Given the description of an element on the screen output the (x, y) to click on. 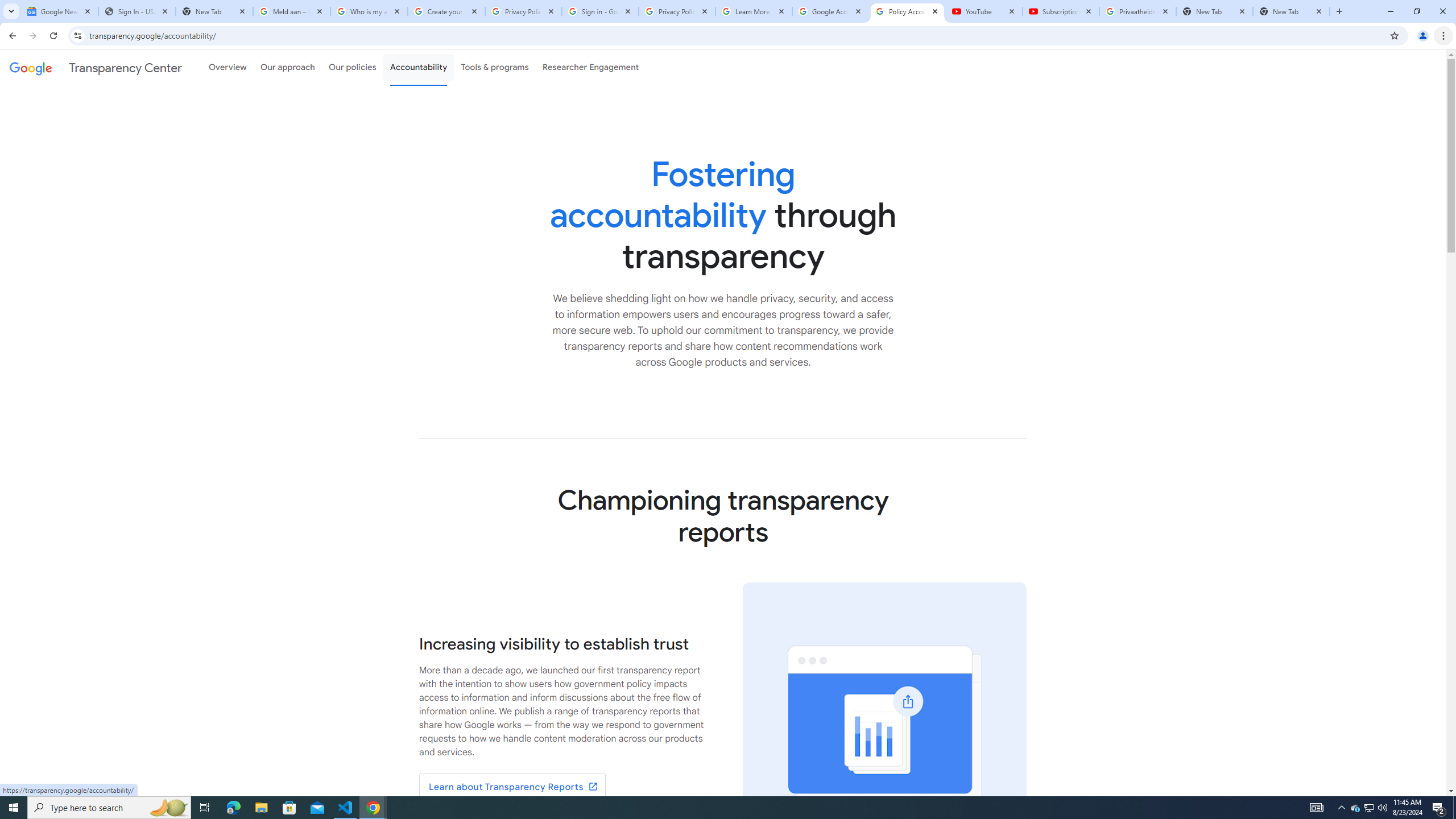
Policy Accountability and Transparency - Transparency Center (906, 11)
Tools & programs (494, 67)
Sign in - Google Accounts (599, 11)
Sign In - USA TODAY (136, 11)
Go to Transparency Report About web page (512, 786)
